Given the description of an element on the screen output the (x, y) to click on. 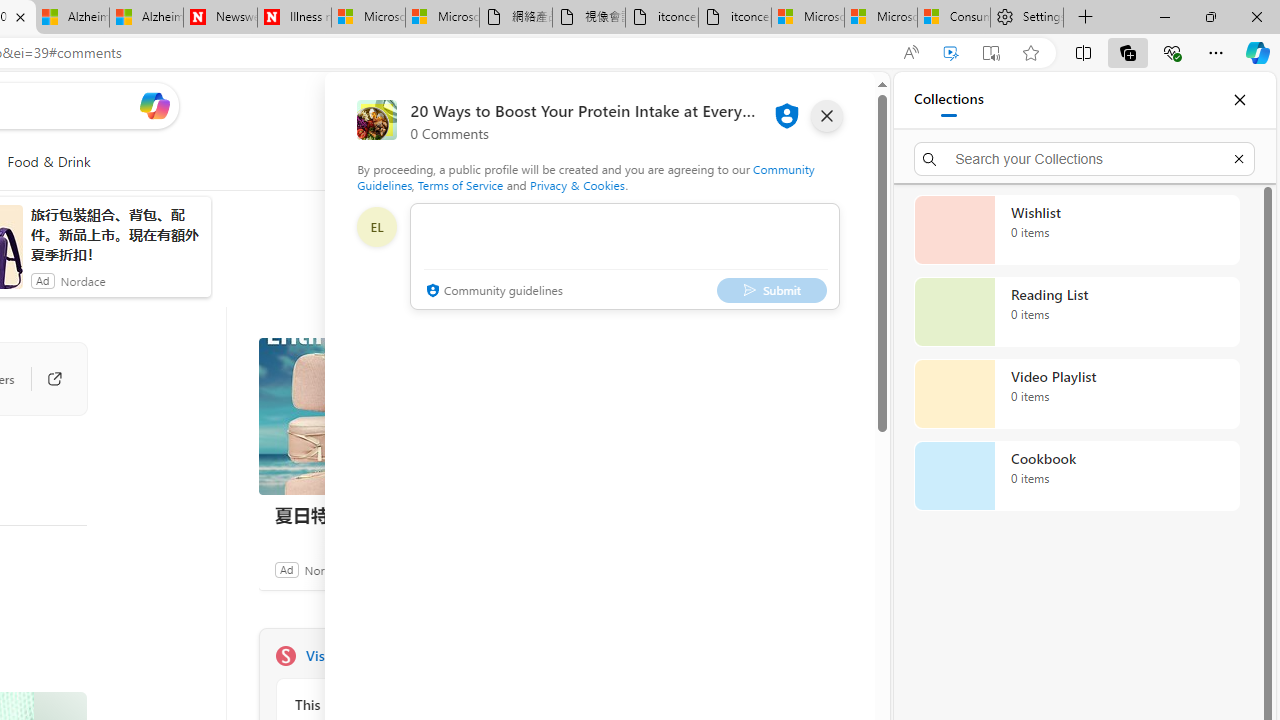
Shape (285, 655)
Profile Picture (376, 226)
Exit search (1238, 158)
